Given the description of an element on the screen output the (x, y) to click on. 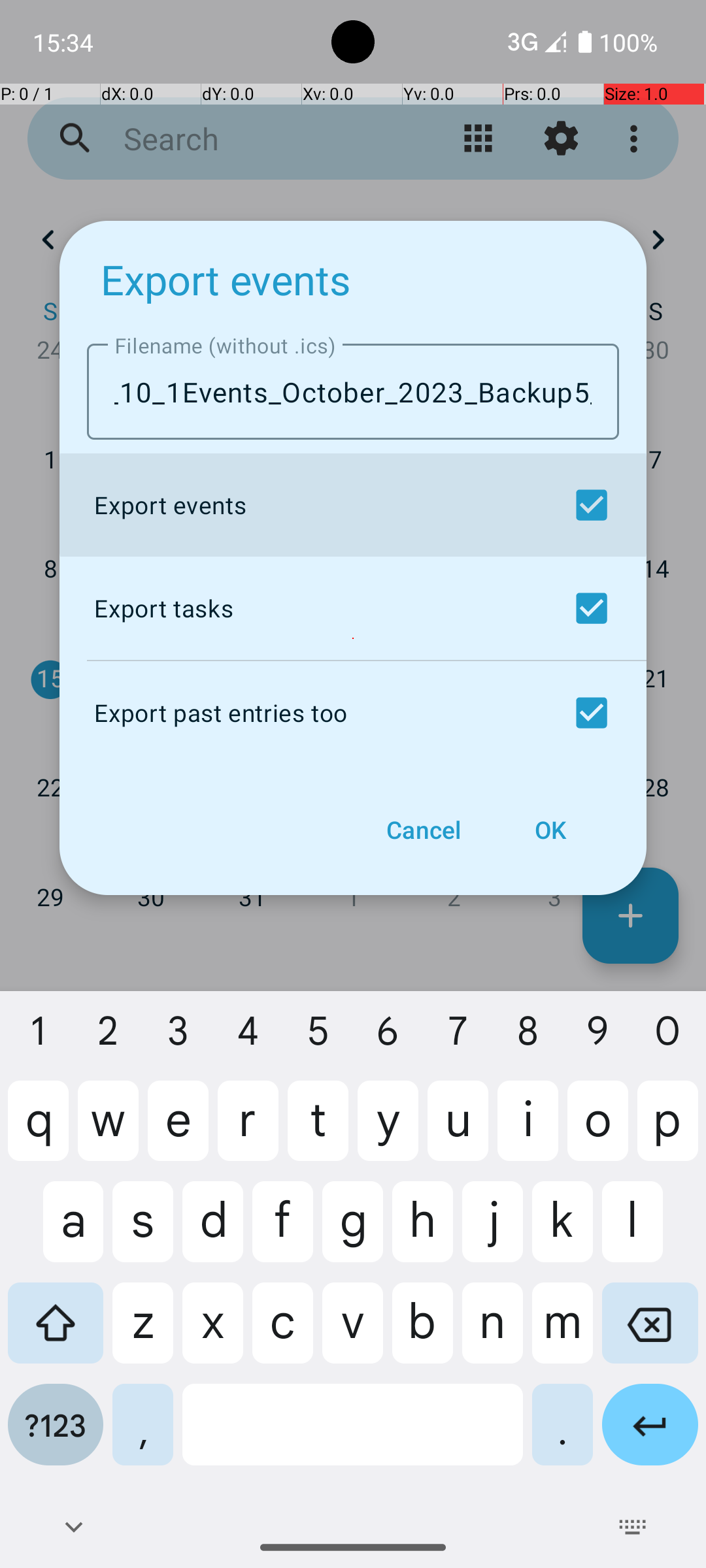
Export events Element type: android.widget.TextView (225, 279)
Events_2023_10_1Events_October_2023_Backup5_15_34_12 Element type: android.widget.EditText (352, 391)
Export tasks Element type: android.widget.CheckBox (349, 608)
Export past entries too Element type: android.widget.CheckBox (349, 712)
